Given the description of an element on the screen output the (x, y) to click on. 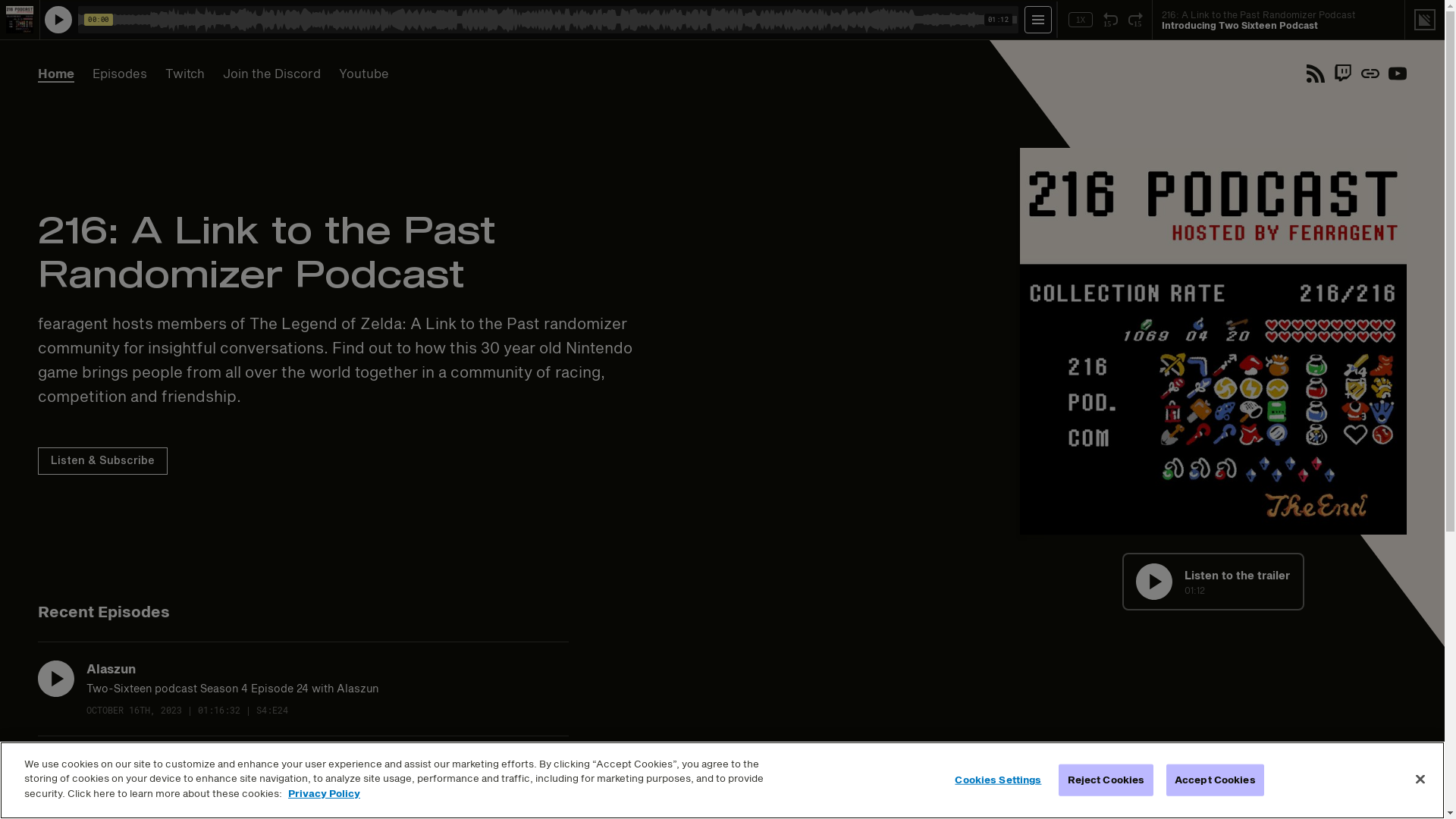
Join the Discord Element type: text (271, 73)
Privacy Policy Element type: text (324, 793)
Accept Cookies Element type: text (1215, 780)
15 Element type: text (1135, 19)
Episodes Element type: text (119, 73)
1X Element type: text (1080, 19)
15 Element type: text (1110, 19)
Home Element type: text (55, 73)
Twitch Element type: hover (1342, 73)
Cookies Settings Element type: text (997, 780)
Reject Cookies Element type: text (1105, 780)
Discord Element type: hover (1370, 73)
Twitch Element type: text (184, 73)
RSS Element type: hover (1315, 73)
Alaszun Element type: text (110, 668)
JamesFnX Element type: text (118, 762)
Youtube Element type: text (363, 73)
Listen & Subscribe Element type: text (102, 460)
YouTube Element type: hover (1397, 73)
